Given the description of an element on the screen output the (x, y) to click on. 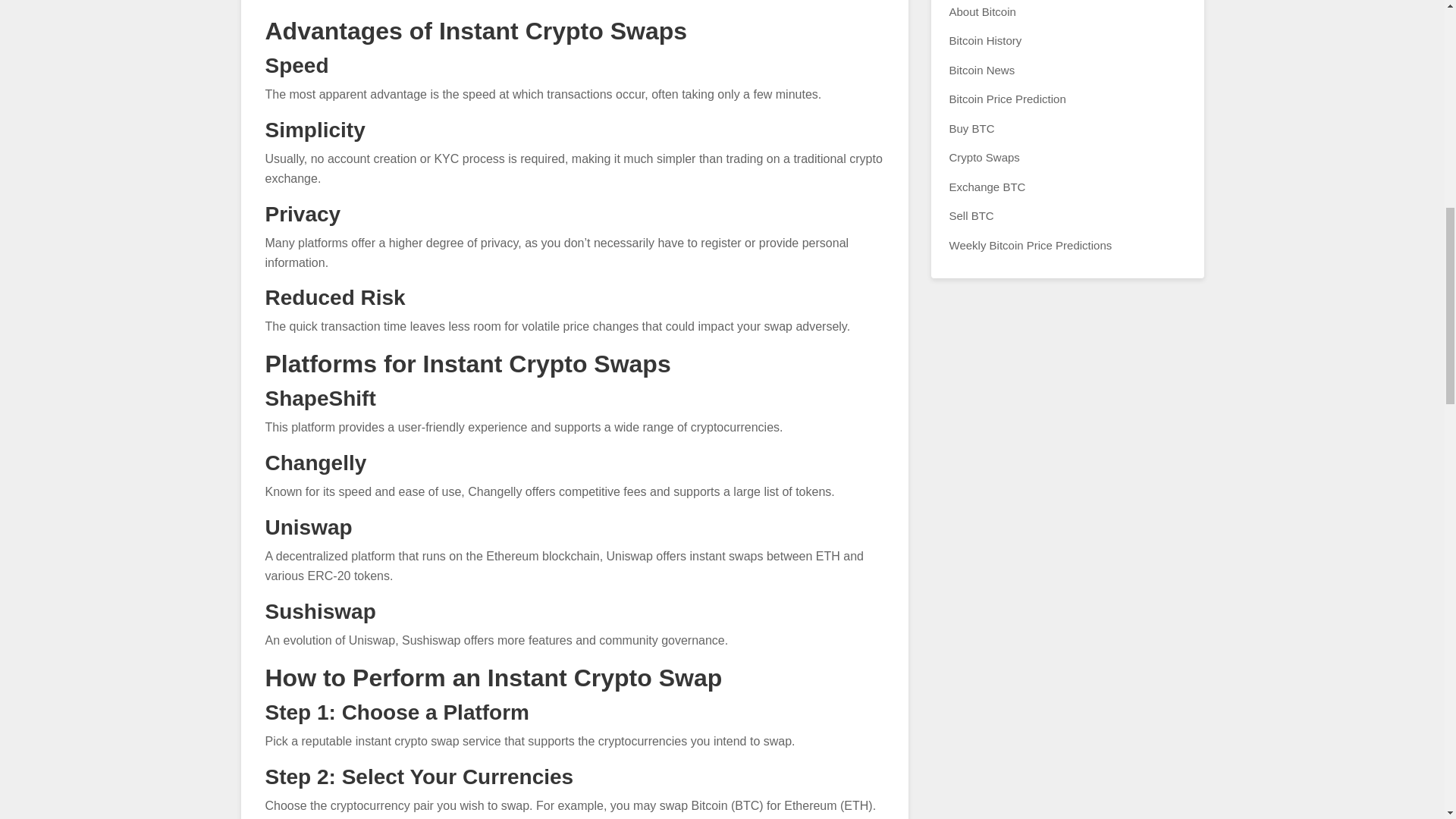
Bitcoin History (985, 40)
Sell BTC (971, 215)
Crypto Swaps (984, 156)
Bitcoin News (981, 69)
Buy BTC (971, 128)
Exchange BTC (987, 186)
Bitcoin Price Prediction (1007, 98)
Weekly Bitcoin Price Predictions (1030, 245)
About Bitcoin (982, 11)
